Given the description of an element on the screen output the (x, y) to click on. 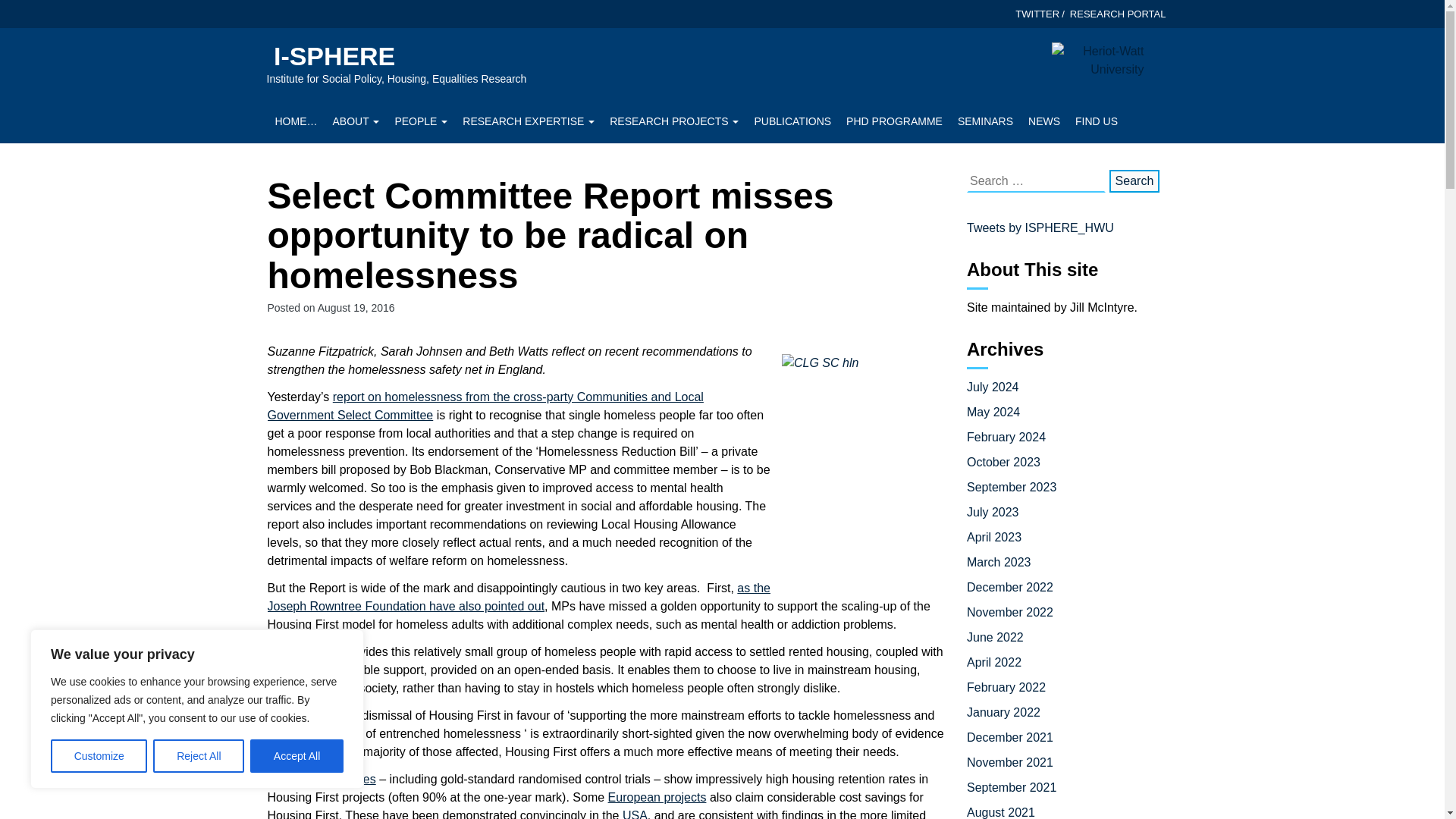
Search (1134, 180)
Accept All (296, 756)
Twitter (1036, 13)
RESEARCH EXPERTISE (528, 122)
ABOUT (355, 122)
About (355, 122)
People (420, 122)
RESEARCH PORTAL (1118, 13)
Research Portal (1118, 13)
PEOPLE (420, 122)
